Given the description of an element on the screen output the (x, y) to click on. 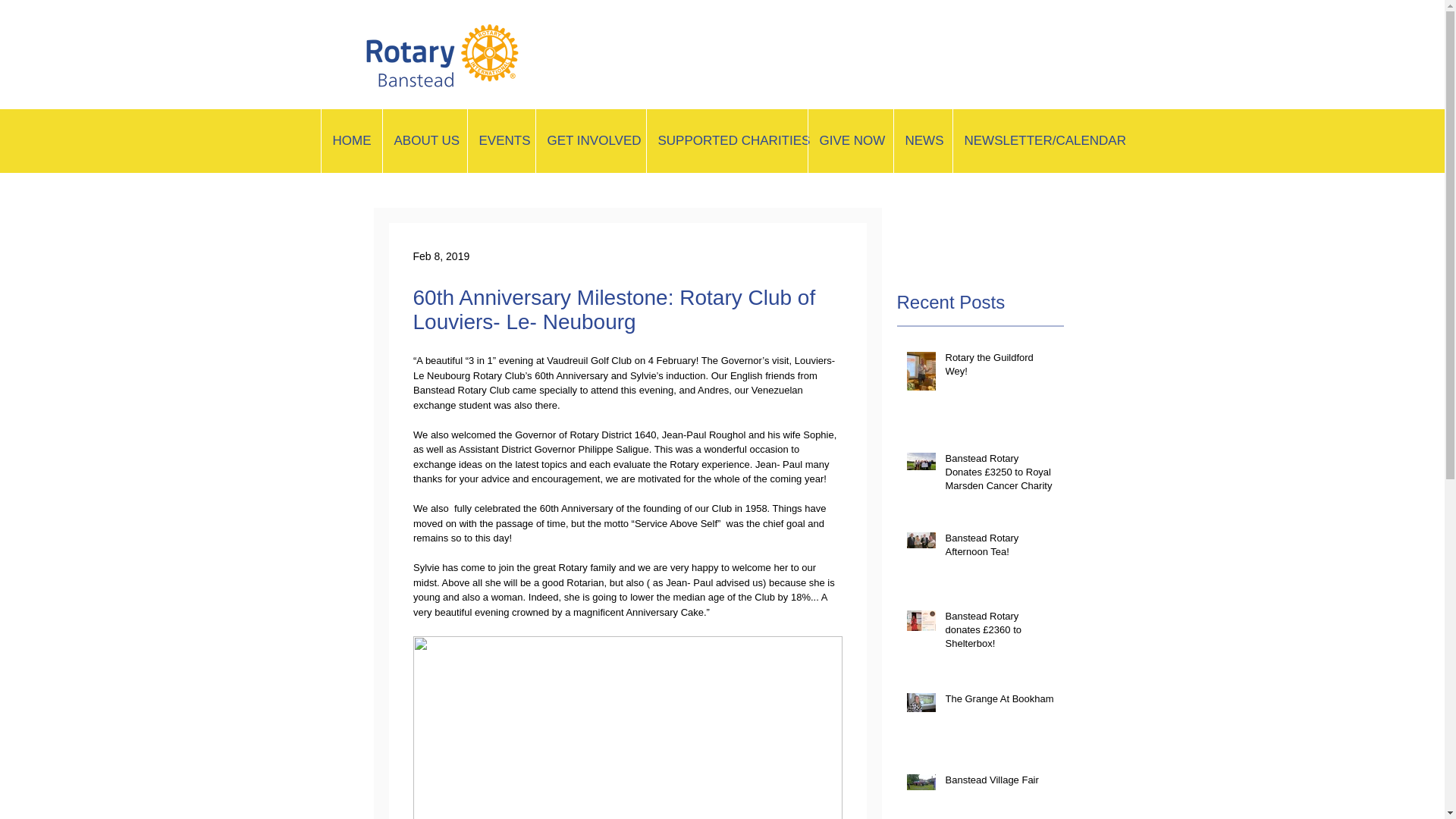
GET INVOLVED (590, 140)
Banstead Village Fair (999, 783)
SUPPORTED CHARITIES (727, 140)
Banstead Rotary Afternoon Tea! (999, 548)
HOME (350, 140)
ABOUT US (424, 140)
Rotary the Guildford Wey! (999, 367)
EVENTS (501, 140)
The Grange At Bookham (999, 701)
GIVE NOW (849, 140)
